Given the description of an element on the screen output the (x, y) to click on. 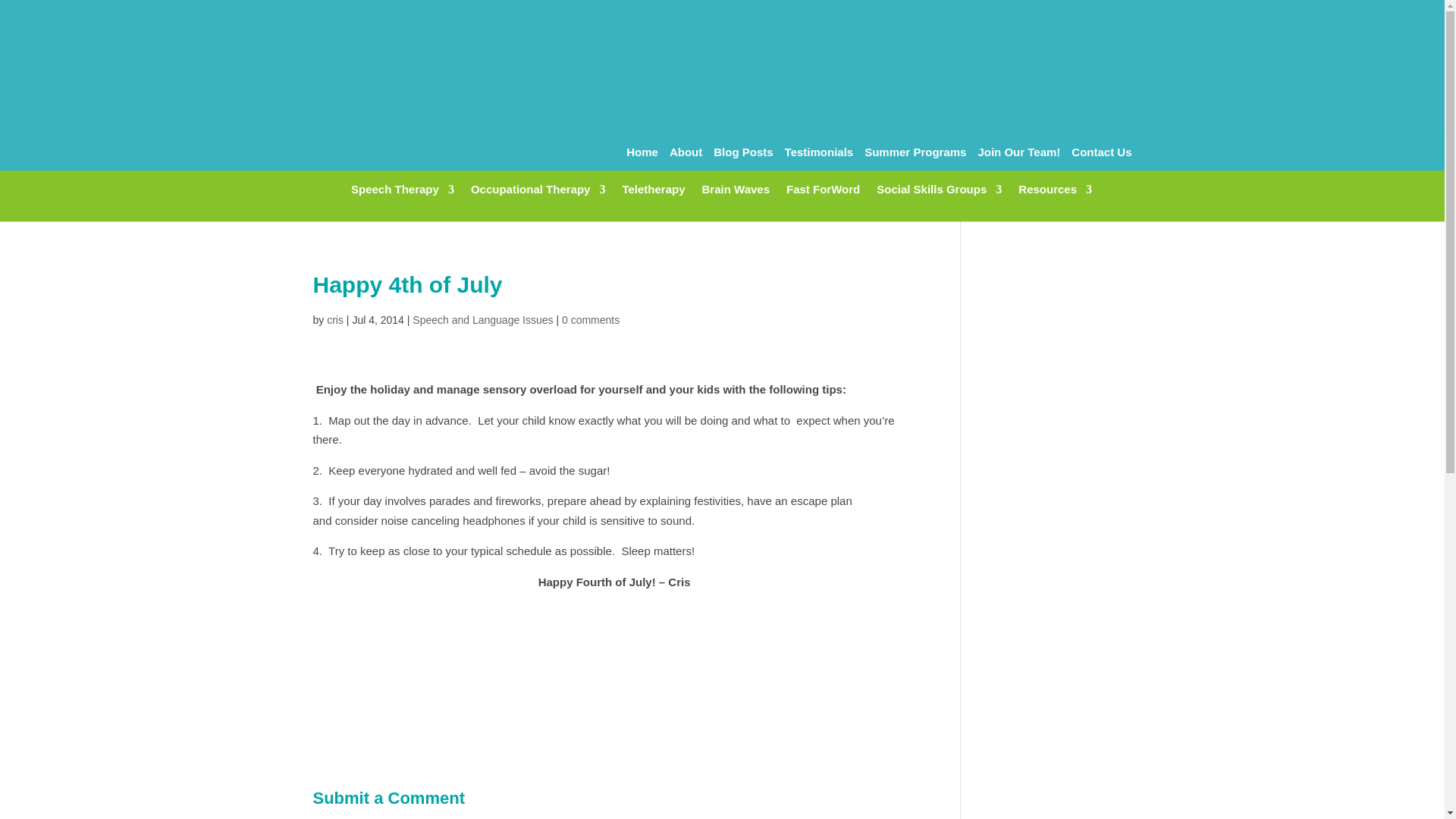
Posts by cris (334, 319)
cris (334, 319)
Fast ForWord (823, 200)
Blog Posts (743, 156)
Speech and Language Issues (482, 319)
Brain Waves (735, 200)
Summer Programs (915, 156)
Contact Us (1101, 156)
Occupational Therapy (537, 200)
Resources (1054, 200)
